Given the description of an element on the screen output the (x, y) to click on. 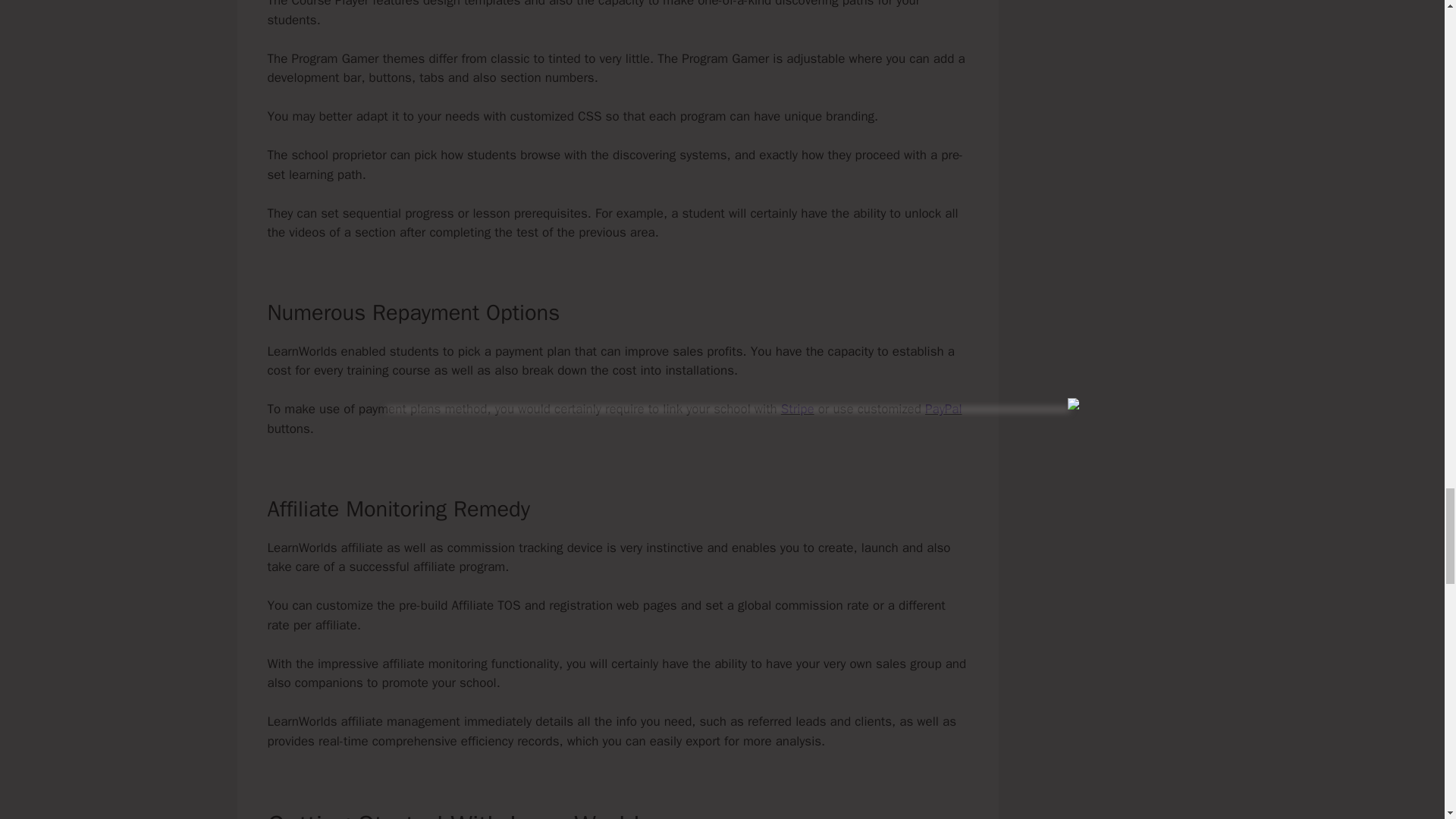
PayPal (943, 408)
Stripe (796, 408)
